Given the description of an element on the screen output the (x, y) to click on. 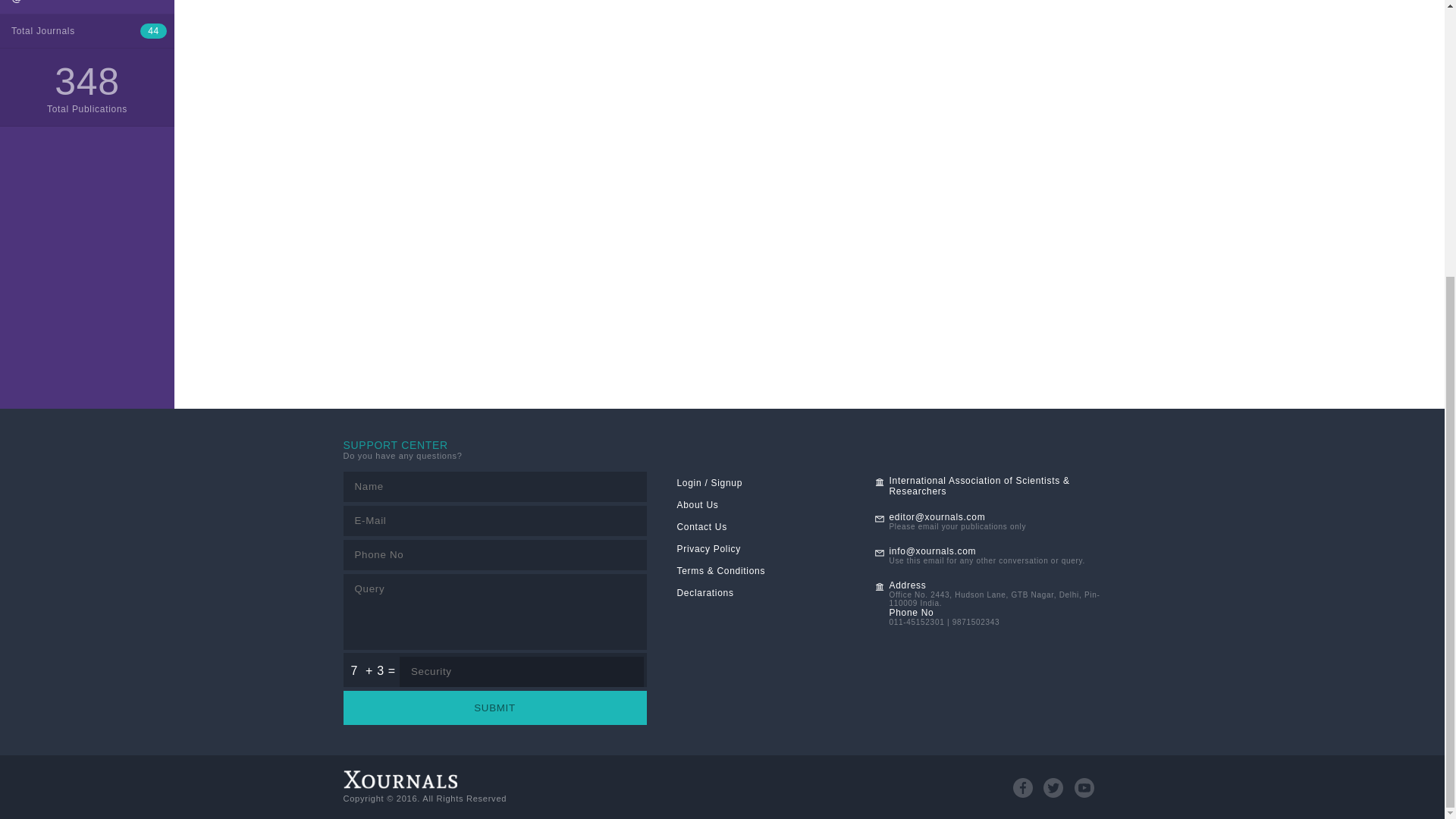
Contacts IASR (87, 6)
